Given the description of an element on the screen output the (x, y) to click on. 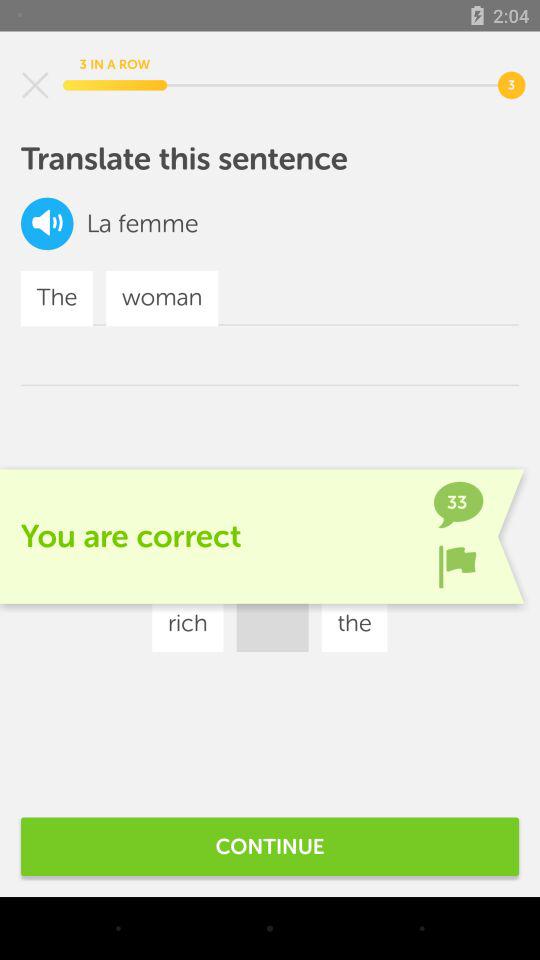
volume toggle (47, 223)
